Given the description of an element on the screen output the (x, y) to click on. 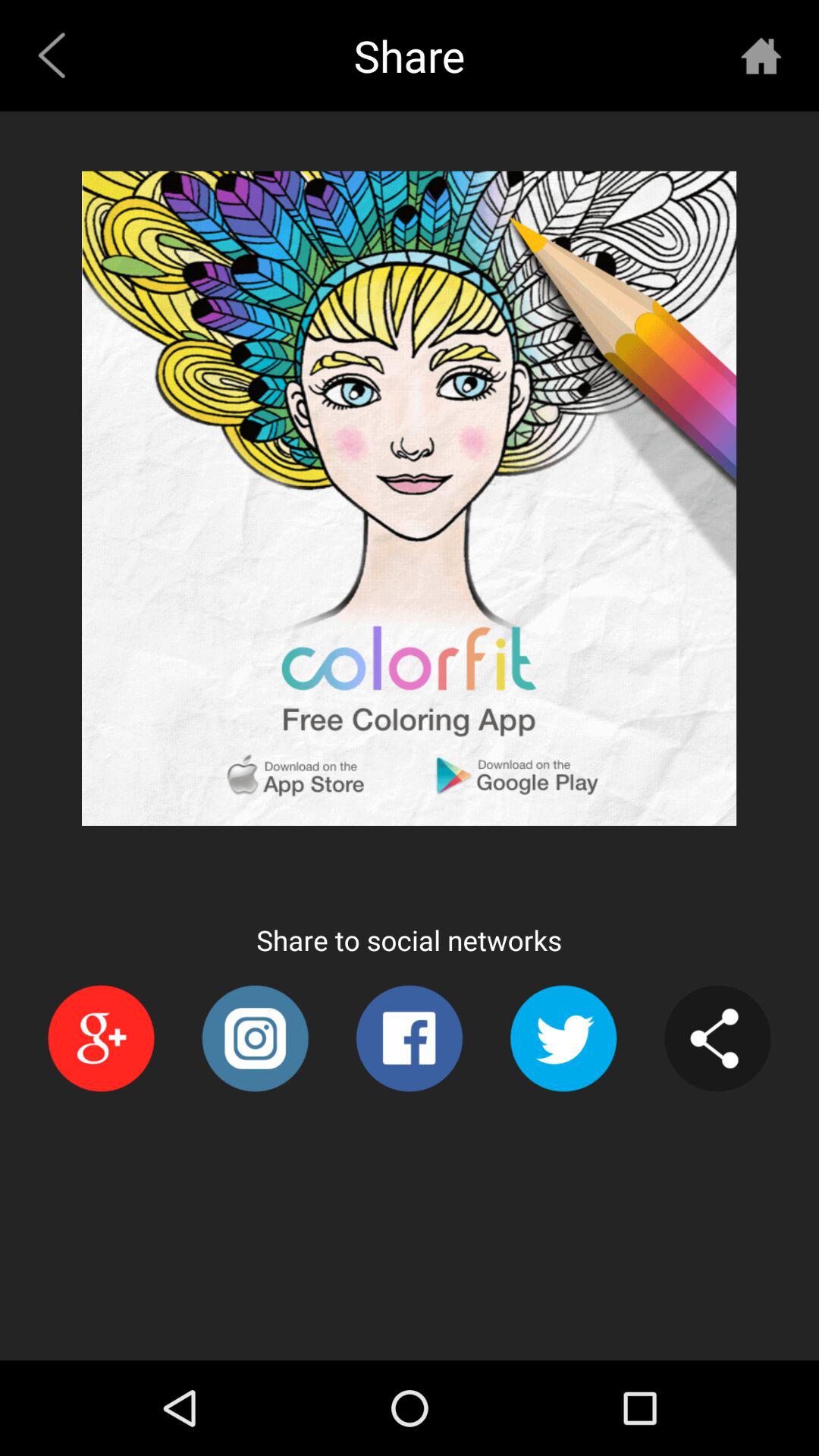
google app (100, 1038)
